Given the description of an element on the screen output the (x, y) to click on. 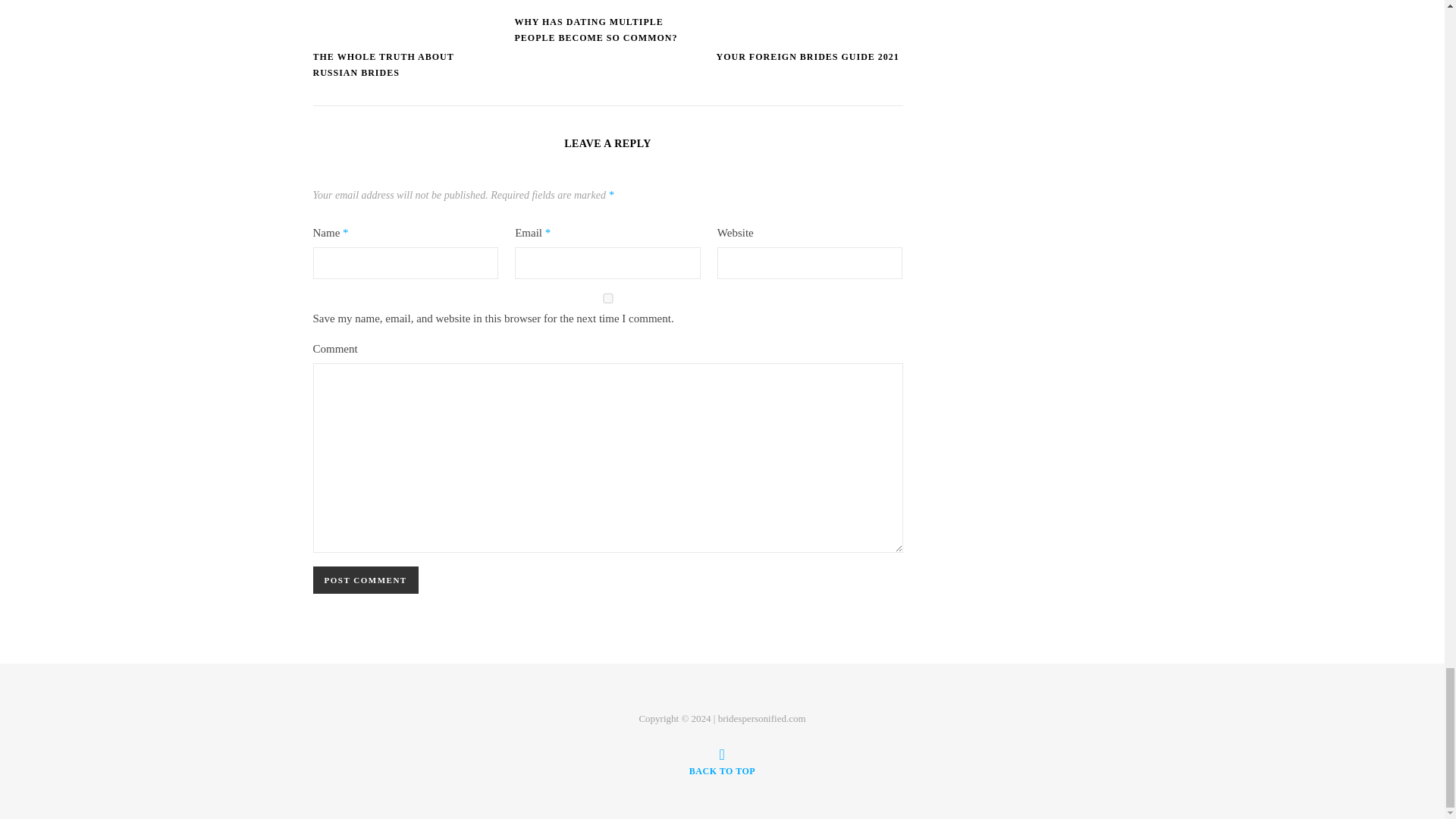
BACK TO TOP (722, 761)
Post Comment (365, 579)
WHY HAS DATING MULTIPLE PEOPLE BECOME SO COMMON? (595, 29)
yes (607, 298)
THE WHOLE TRUTH ABOUT RUSSIAN BRIDES (382, 64)
Post Comment (365, 579)
YOUR FOREIGN BRIDES GUIDE 2021 (807, 56)
